Given the description of an element on the screen output the (x, y) to click on. 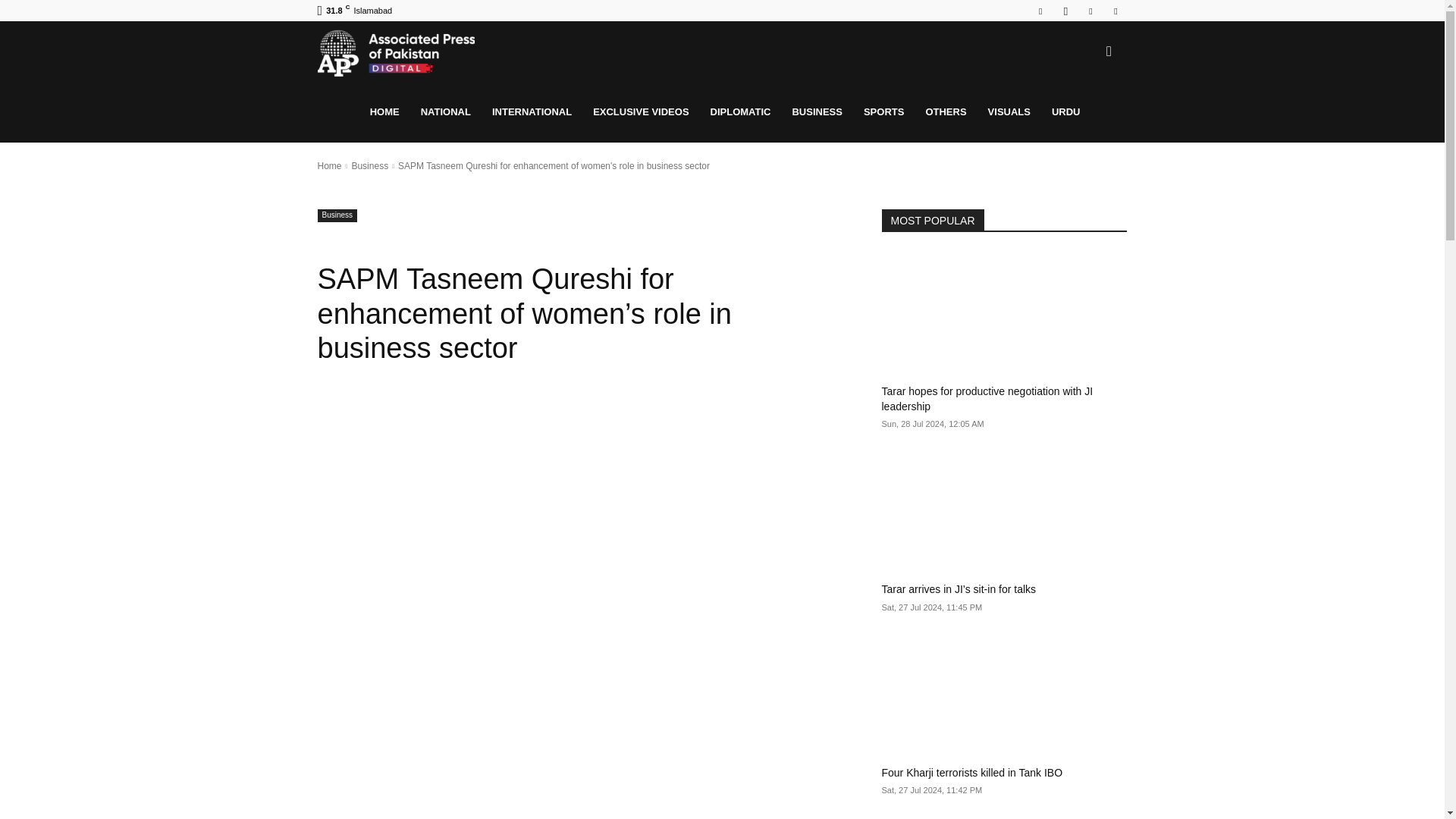
Facebook (1040, 10)
Twitter (1090, 10)
View all posts in Business (369, 165)
Instagram (1065, 10)
ASSOCIATED PRESS OF PAKISTAN (395, 52)
Youtube (1114, 10)
